Given the description of an element on the screen output the (x, y) to click on. 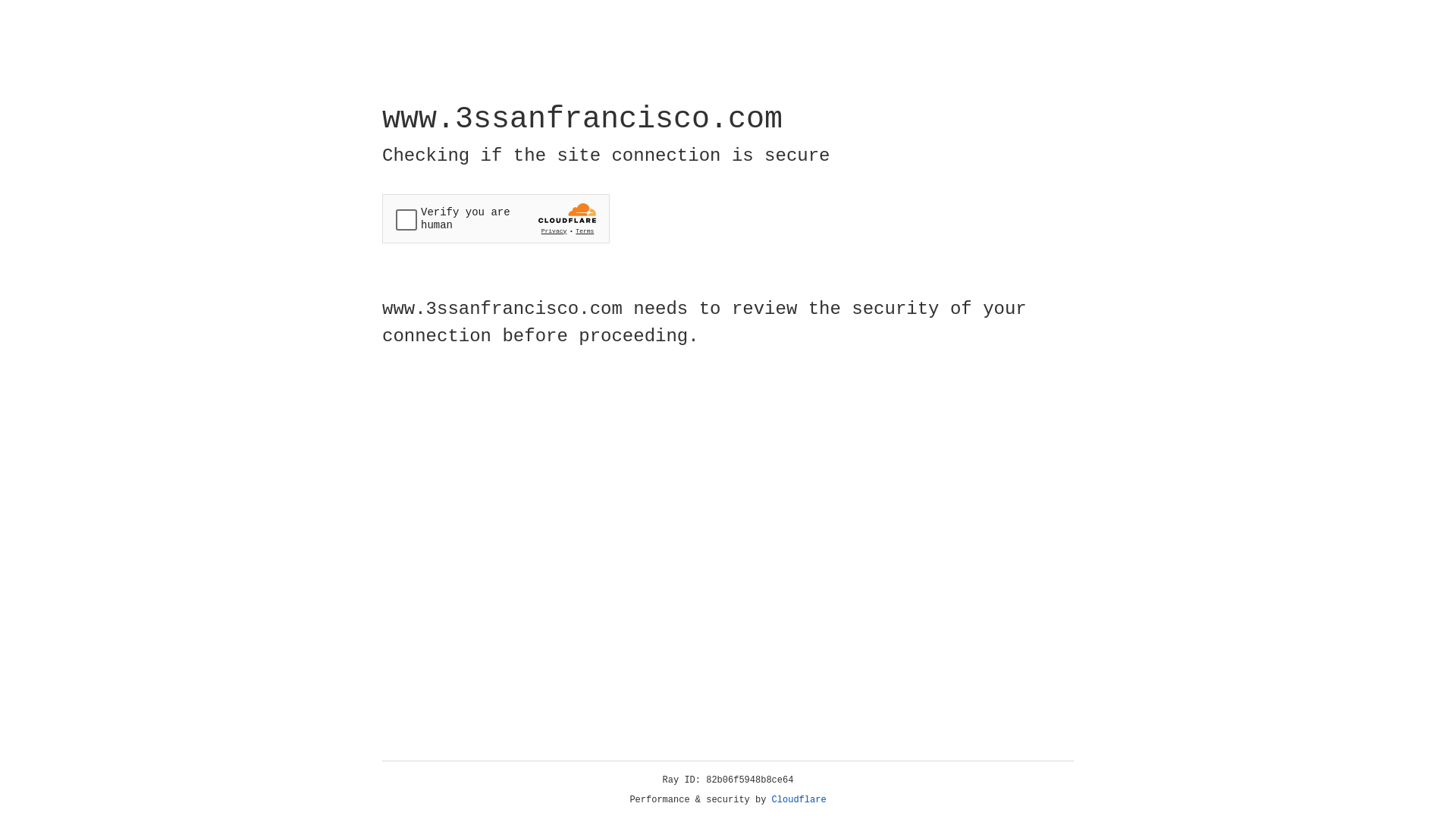
Cloudflare Element type: text (798, 799)
Widget containing a Cloudflare security challenge Element type: hover (495, 218)
